Given the description of an element on the screen output the (x, y) to click on. 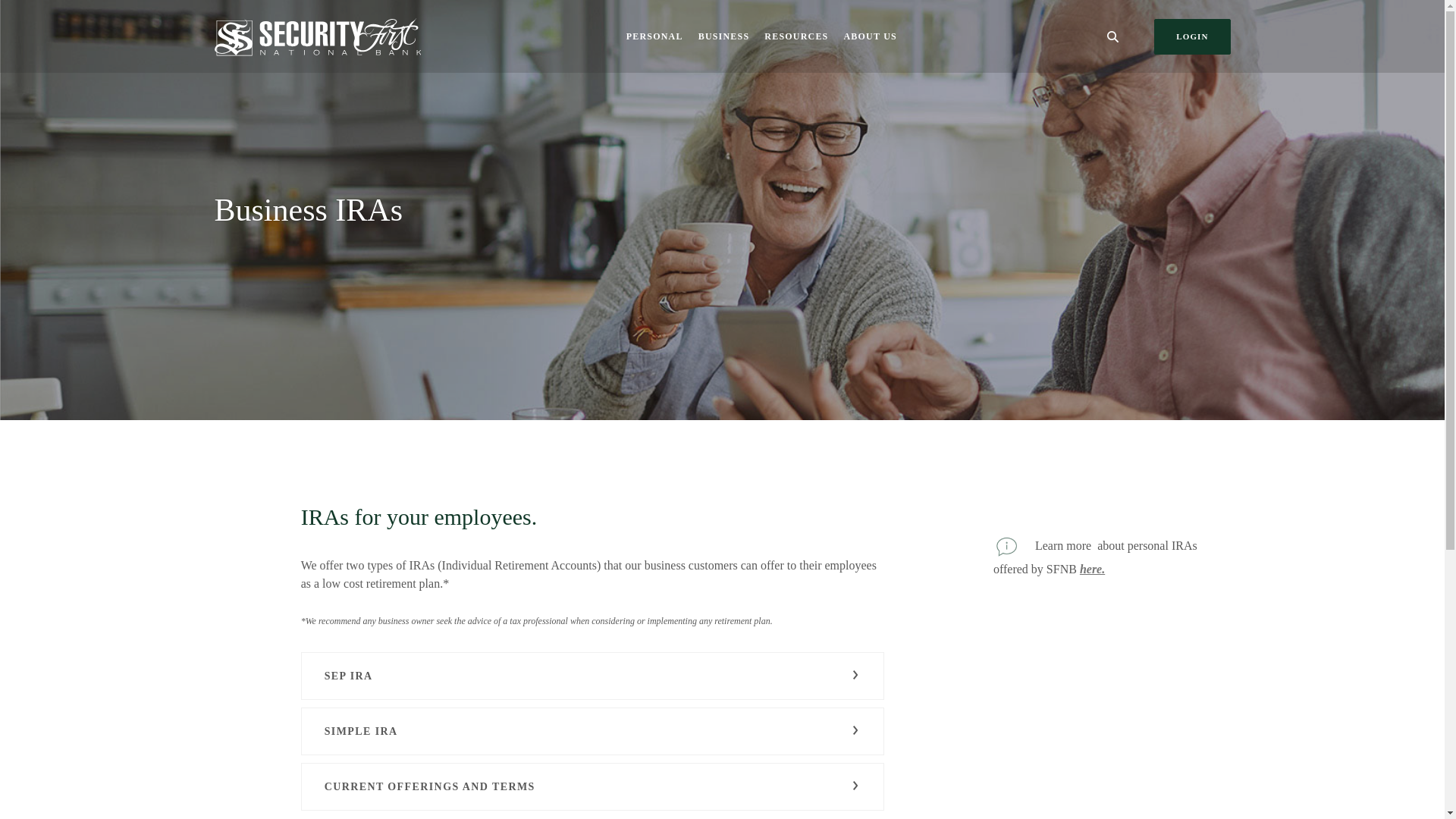
LOGIN Element type: text (1192, 35)
Security First National Bank, Hugo, OK Element type: hover (316, 36)
here. Element type: text (1091, 568)
